Given the description of an element on the screen output the (x, y) to click on. 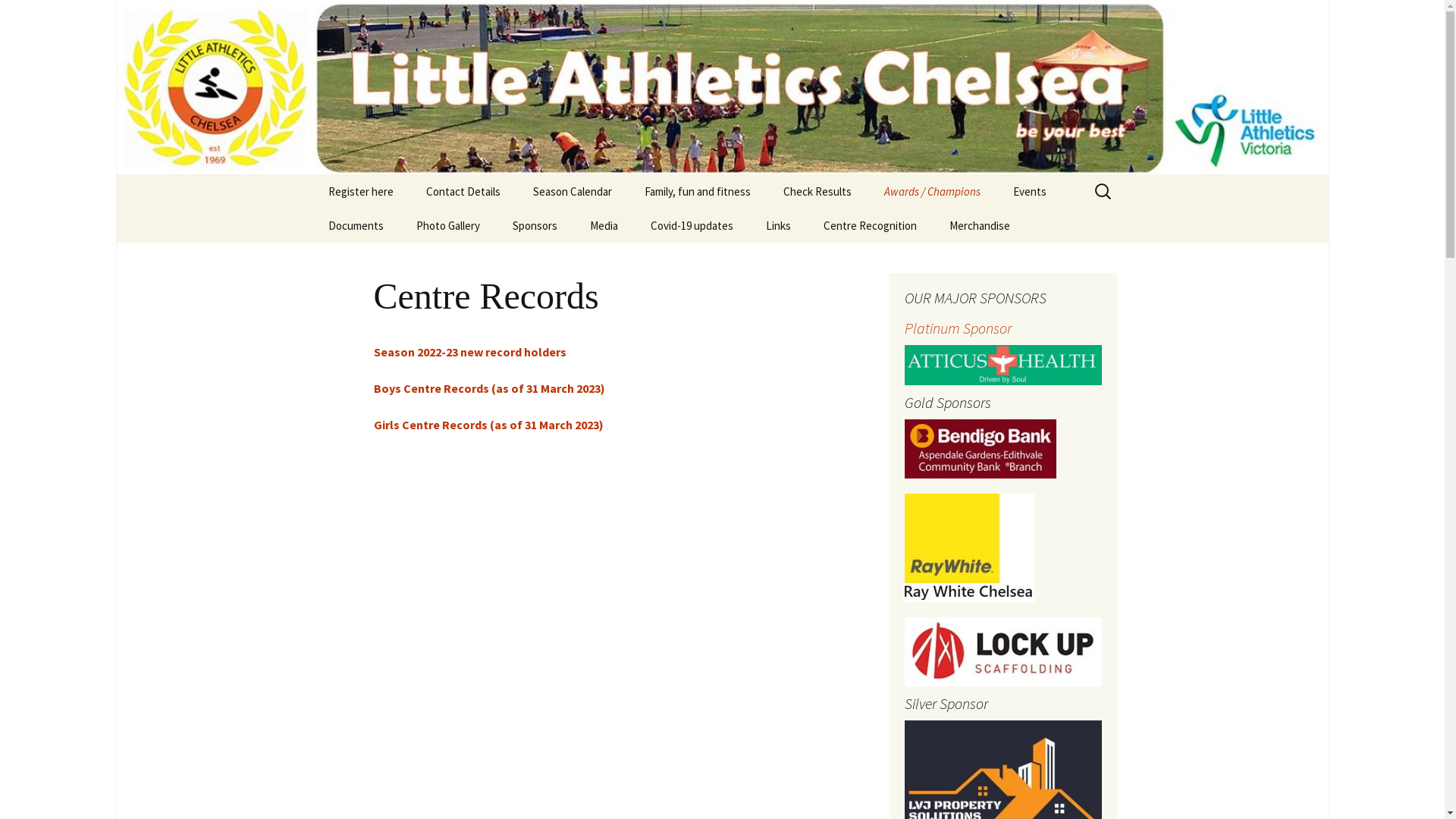
Family, fun and fitness Element type: text (697, 191)
Sponsors Element type: text (534, 225)
Season Calendar Element type: text (571, 191)
Centre Recognition Element type: text (869, 225)
Media Element type: text (603, 225)
Covid-19 updates Element type: text (691, 225)
Documents Element type: text (355, 225)
Centre Awards & Records 2022-23 Element type: text (944, 231)
Contact us Element type: text (486, 225)
Check Results Element type: text (816, 191)
Register here Element type: text (359, 191)
Platinum Sponsor Element type: text (1002, 344)
Merchandise Element type: text (979, 225)
Boys Centre Records (as of 31 March 2023) Element type: text (488, 387)
Awards / Champions Element type: text (932, 191)
Archived handbooks Element type: text (388, 259)
Season 2022-23 new record holders Element type: text (469, 351)
Skip to content Element type: text (312, 174)
Photo Gallery Element type: text (447, 225)
Links Element type: text (778, 225)
Ray White Chelsea Gift Element type: text (1073, 225)
Search Element type: text (18, 16)
Centre Awards Element type: text (650, 259)
Register Element type: text (705, 225)
Girls Centre Records (as of 31 March 2023) Element type: text (487, 424)
Contact Details Element type: text (463, 191)
Events Element type: text (1029, 191)
